Given the description of an element on the screen output the (x, y) to click on. 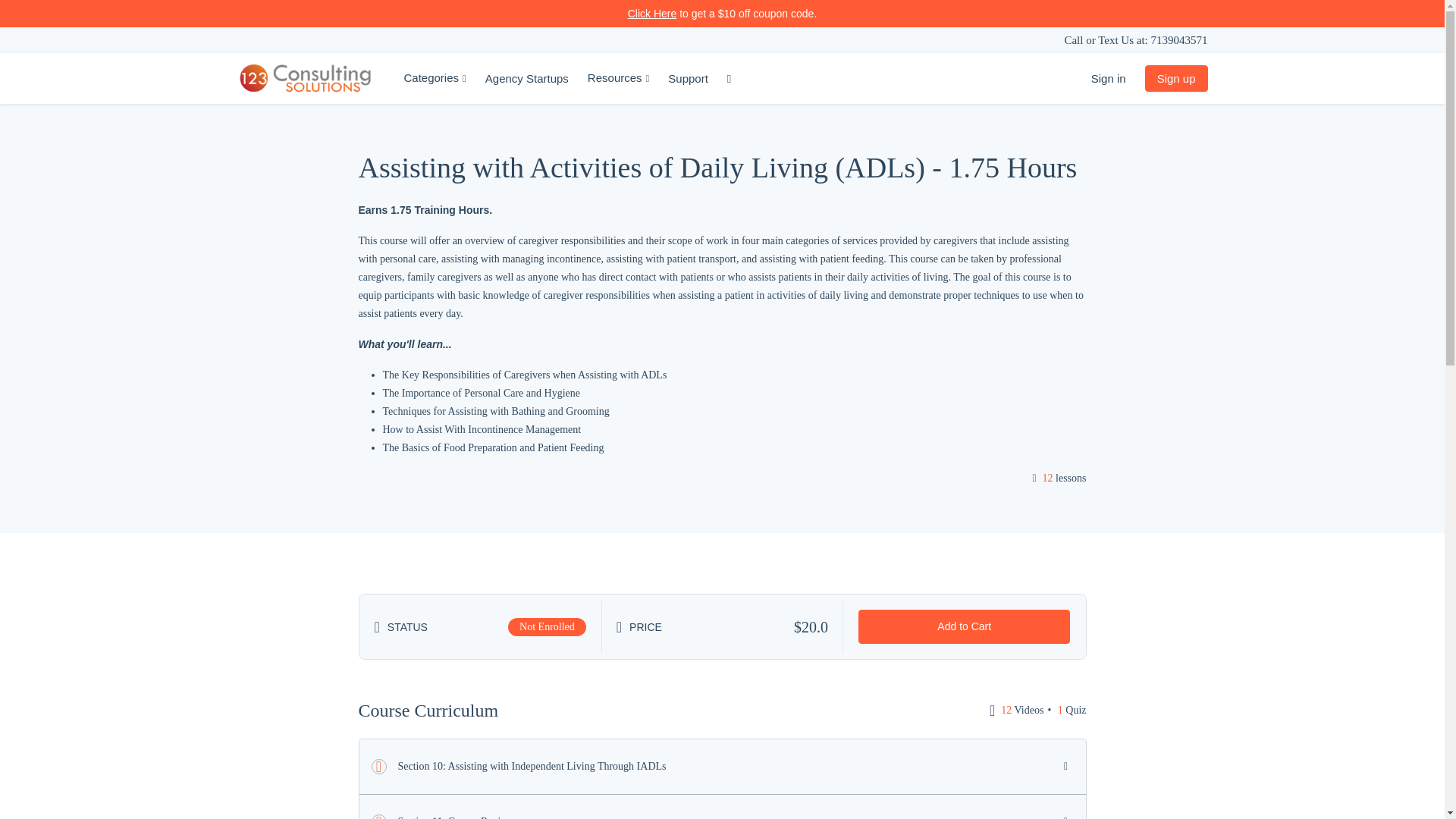
Call or Text Us at: 7139043571 Element type: text (1135, 40)
Categories Element type: text (434, 78)
Add to Cart Element type: text (964, 626)
Sign up Element type: text (1176, 78)
Resources Element type: text (618, 78)
Cart Element type: hover (730, 78)
Agency Startups Element type: text (526, 78)
Support Element type: text (688, 78)
Sign in Element type: text (1108, 78)
Click Here Element type: text (652, 13)
123 Consulting Solutions Element type: hover (304, 78)
